Given the description of an element on the screen output the (x, y) to click on. 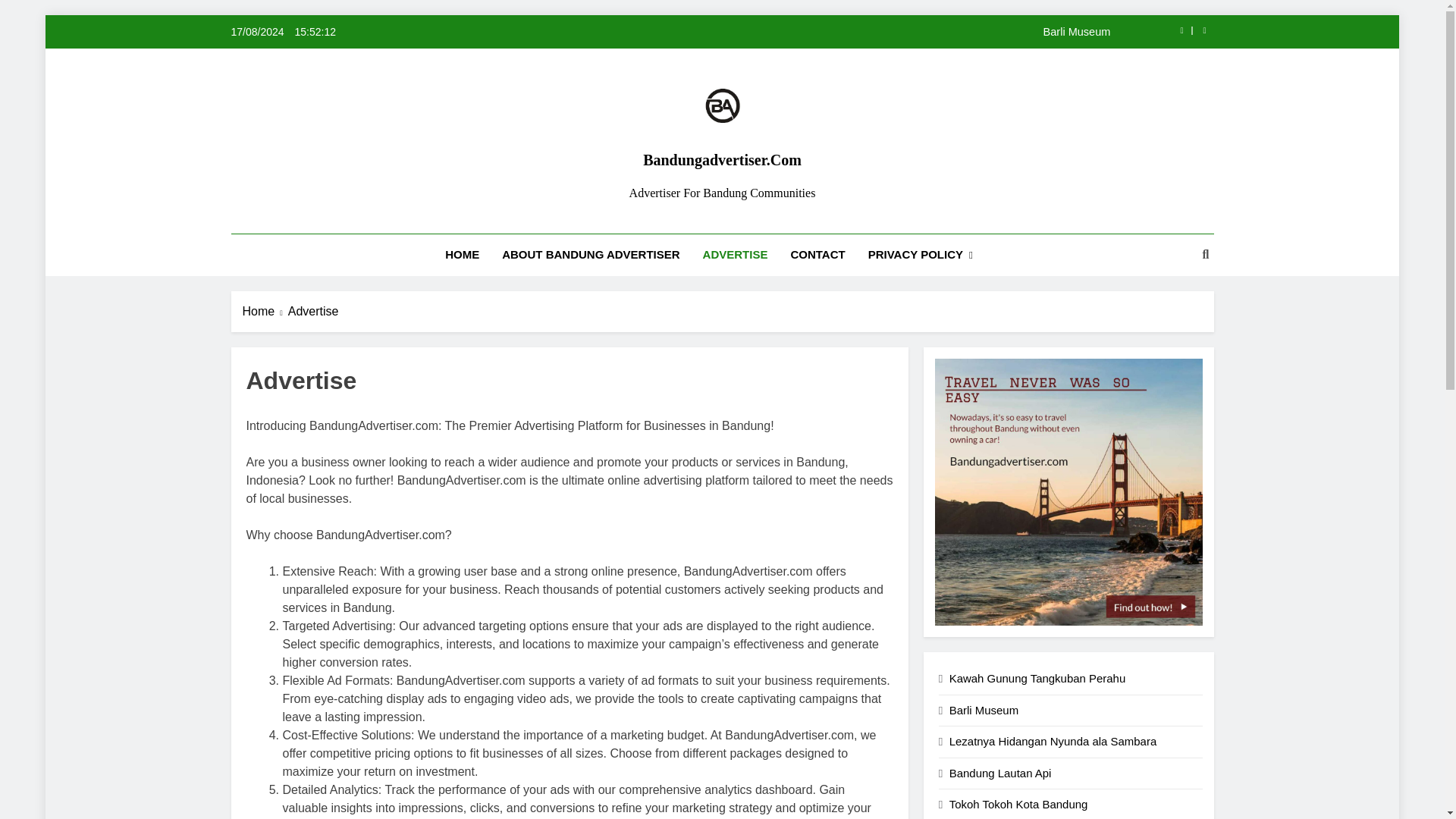
Bandungadvertiser.Com (722, 159)
Barli Museum (817, 31)
Bandung Lautan Api (1000, 772)
PRIVACY POLICY (920, 255)
Barli Museum (983, 709)
Barli Museum (817, 31)
CONTACT (817, 254)
Tokoh Tokoh Kota Bandung (1018, 803)
Lezatnya Hidangan Nyunda ala Sambara (1053, 740)
Kawah Gunung Tangkuban Perahu (1037, 677)
